Given the description of an element on the screen output the (x, y) to click on. 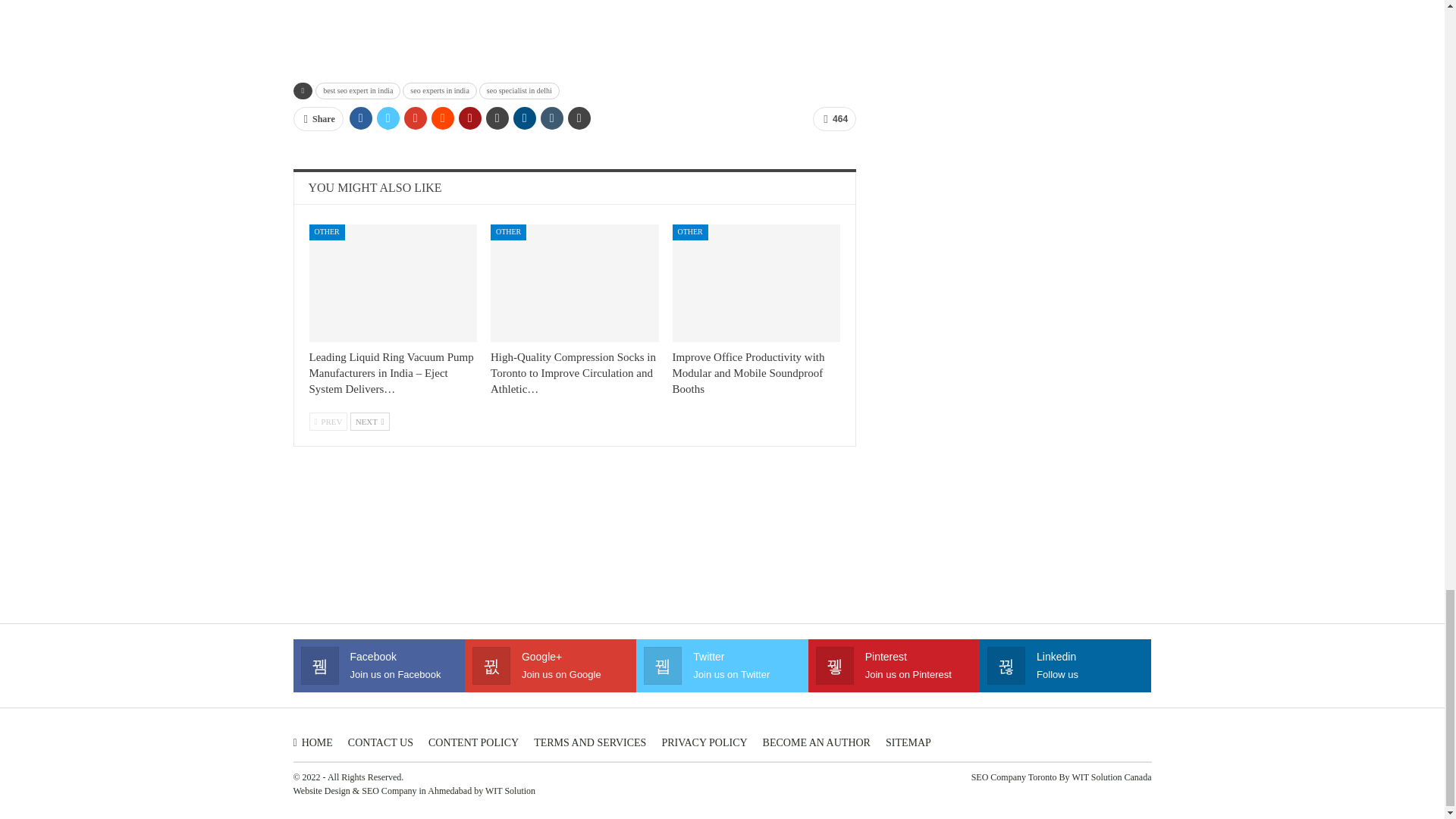
Next (370, 421)
Previous (327, 421)
website design (320, 790)
